Given the description of an element on the screen output the (x, y) to click on. 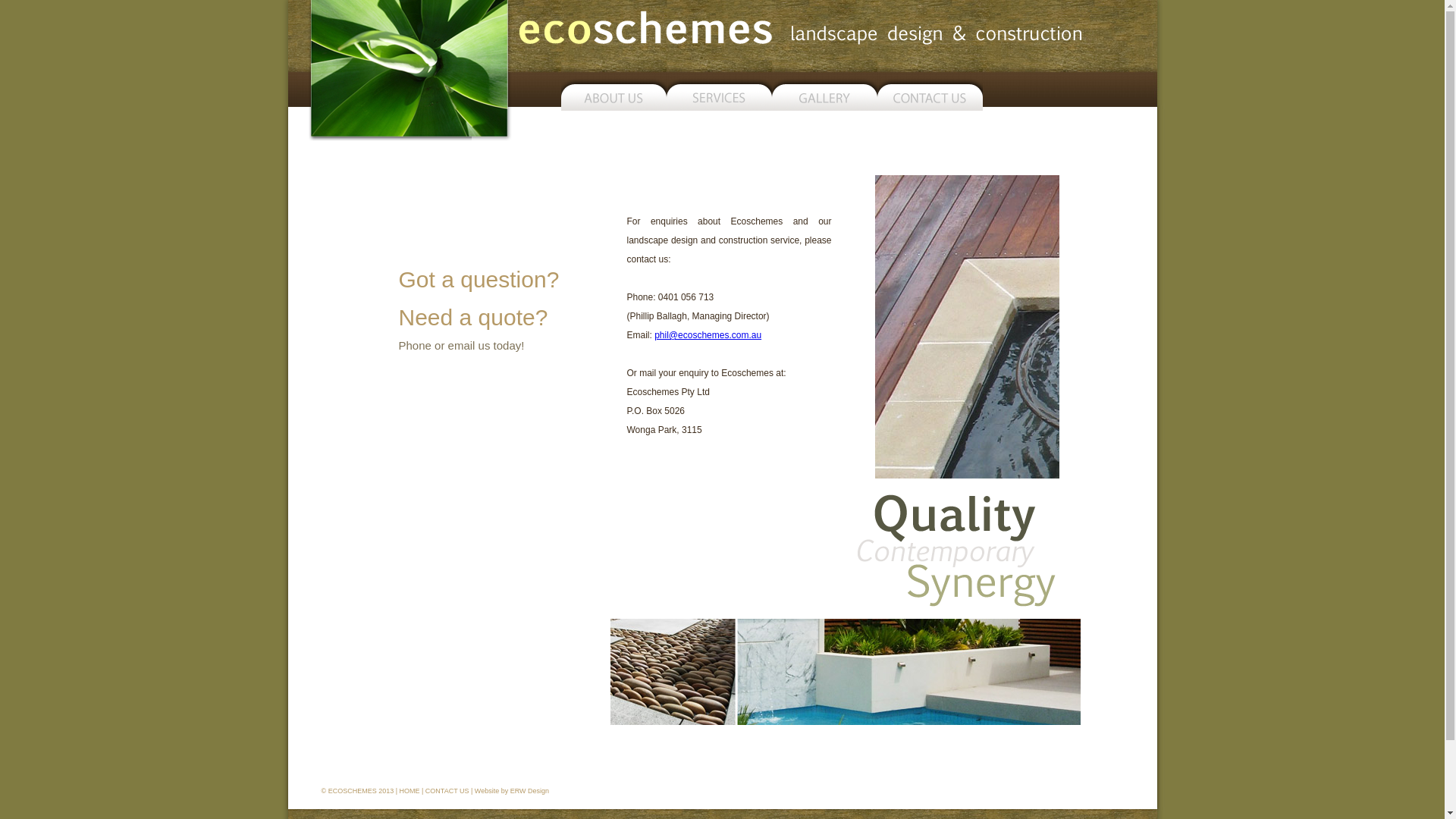
phil@ecoschemes.com.au Element type: text (707, 334)
CONTACT US Element type: text (447, 790)
ERW Design Element type: text (529, 790)
HOME Element type: text (409, 790)
